Given the description of an element on the screen output the (x, y) to click on. 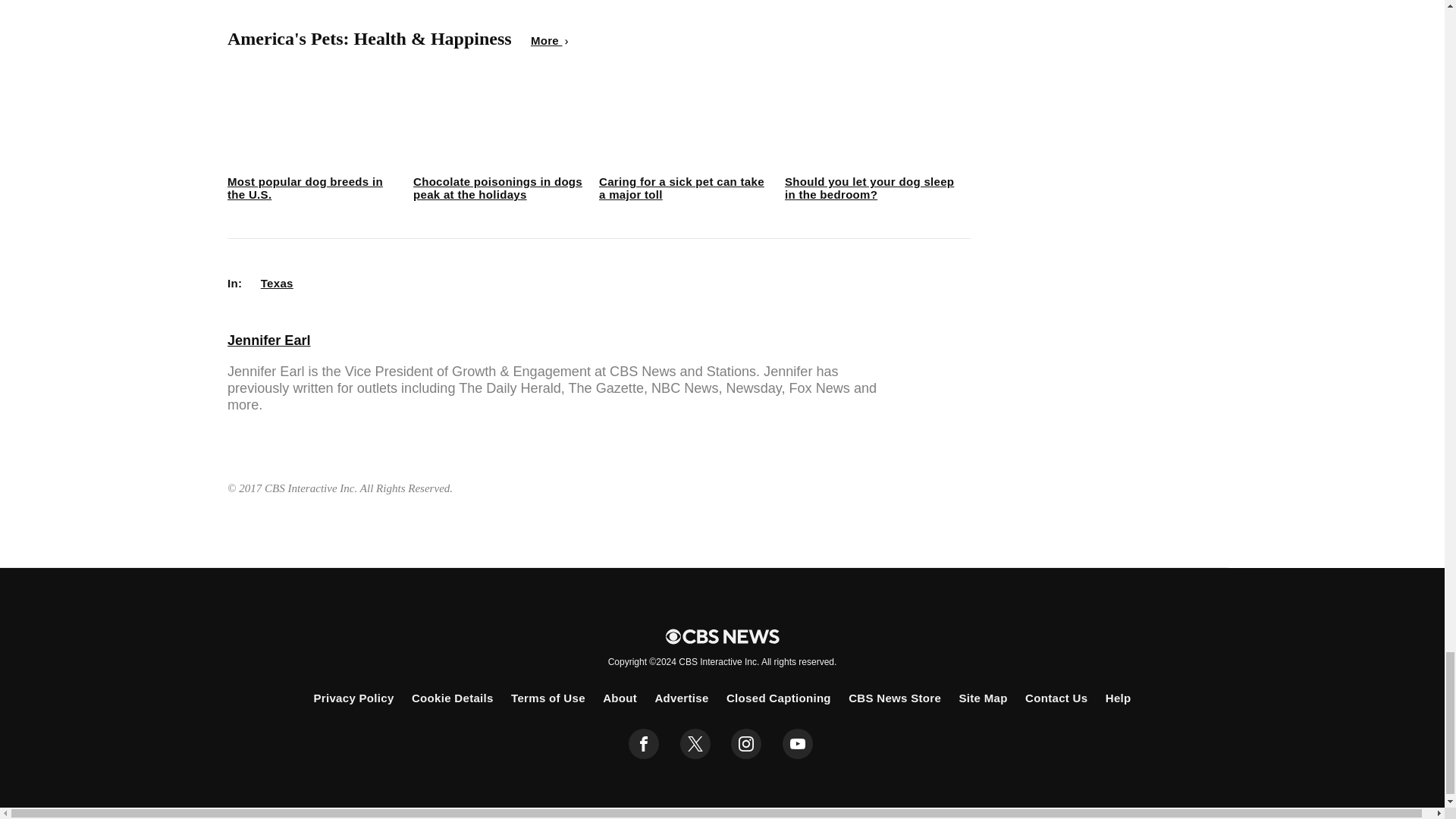
twitter (694, 743)
instagram (745, 743)
youtube (797, 743)
facebook (643, 743)
